Given the description of an element on the screen output the (x, y) to click on. 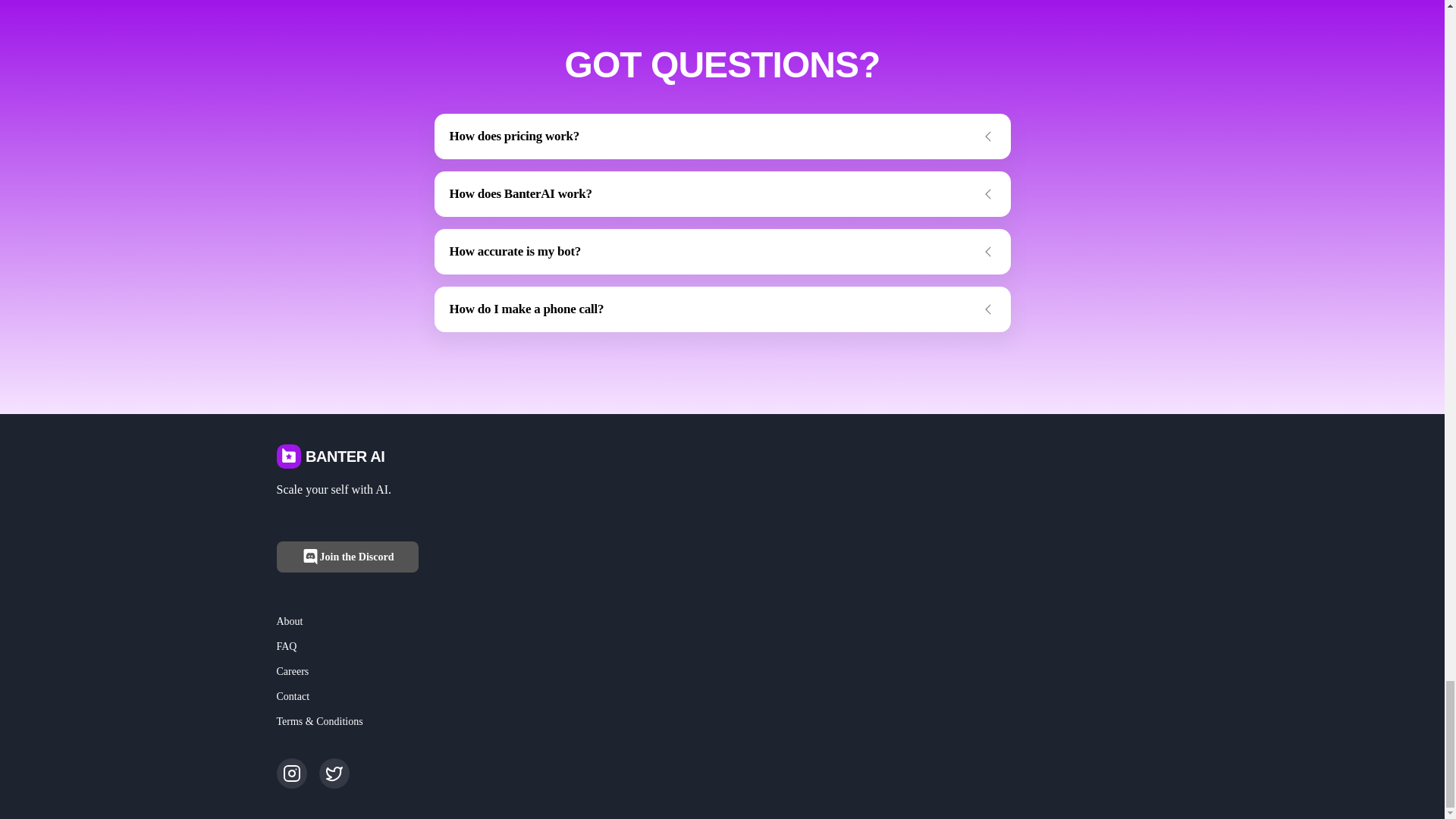
Contact (292, 696)
Careers (292, 671)
FAQ (286, 645)
Join the Discord (346, 556)
About (289, 621)
